Given the description of an element on the screen output the (x, y) to click on. 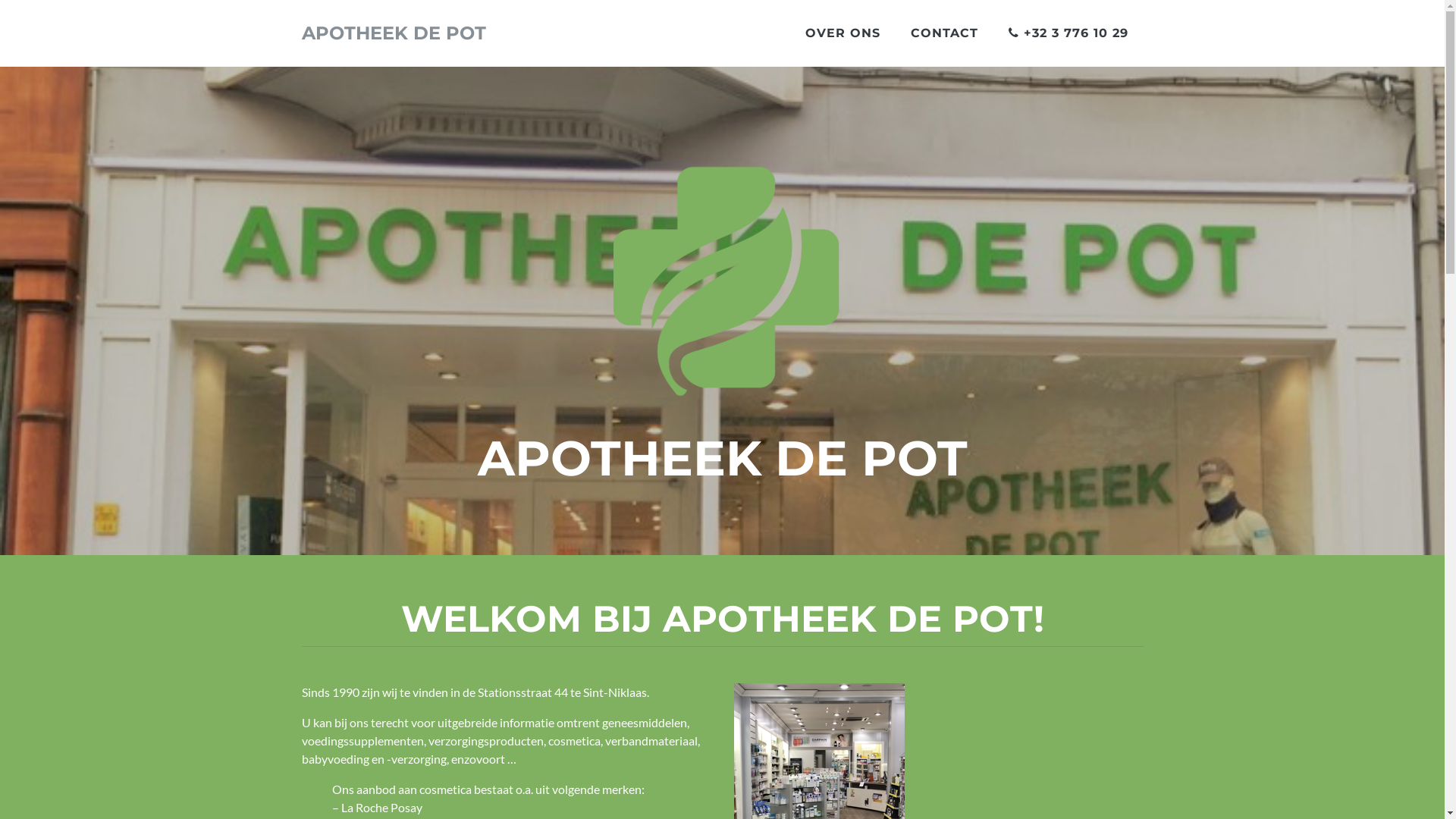
+32 3 776 10 29 Element type: text (1068, 33)
OVER ONS Element type: text (842, 33)
APOTHEEK DE POT Element type: text (393, 32)
CONTACT Element type: text (943, 33)
